Given the description of an element on the screen output the (x, y) to click on. 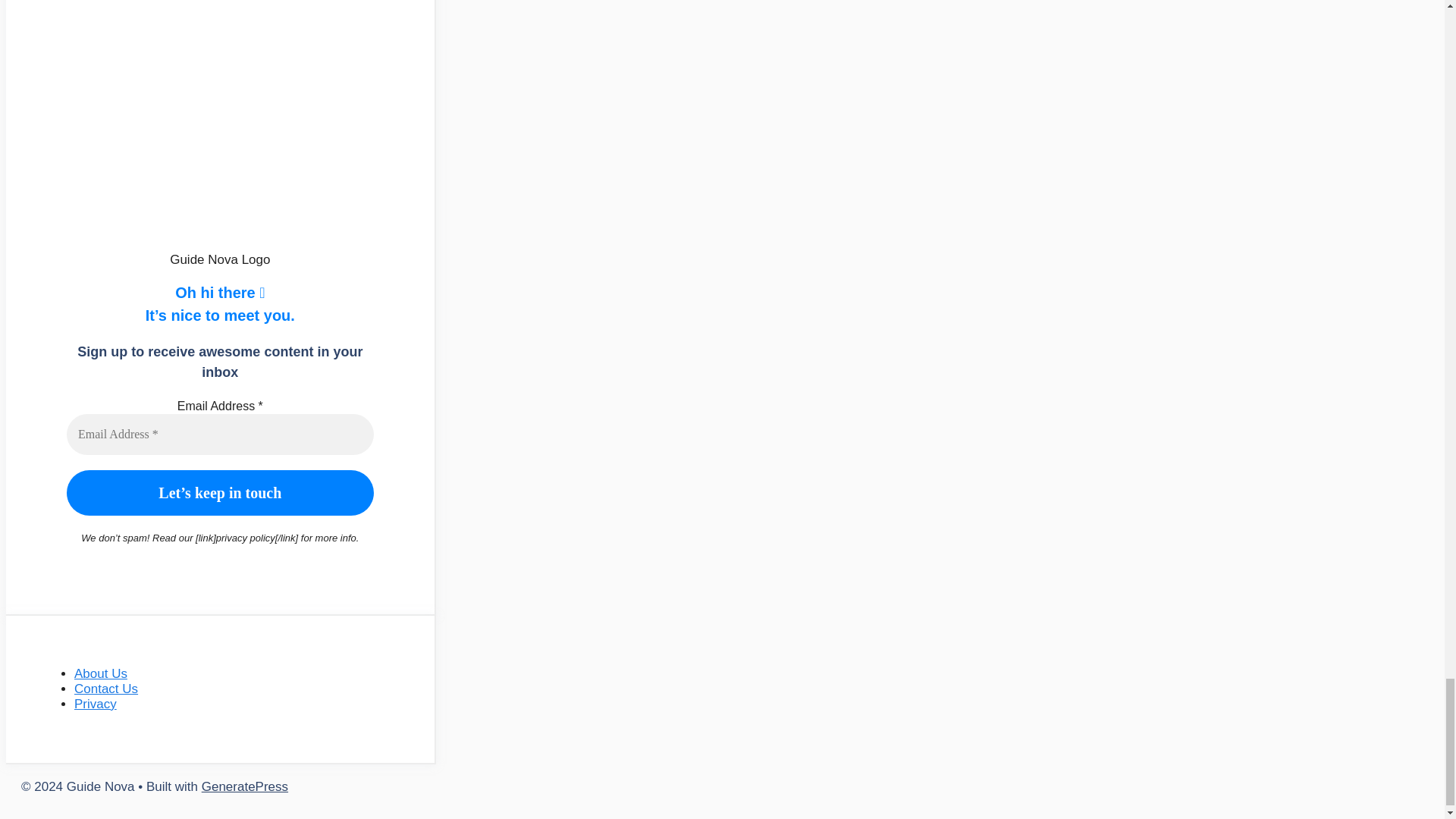
Email Address (220, 434)
